Given the description of an element on the screen output the (x, y) to click on. 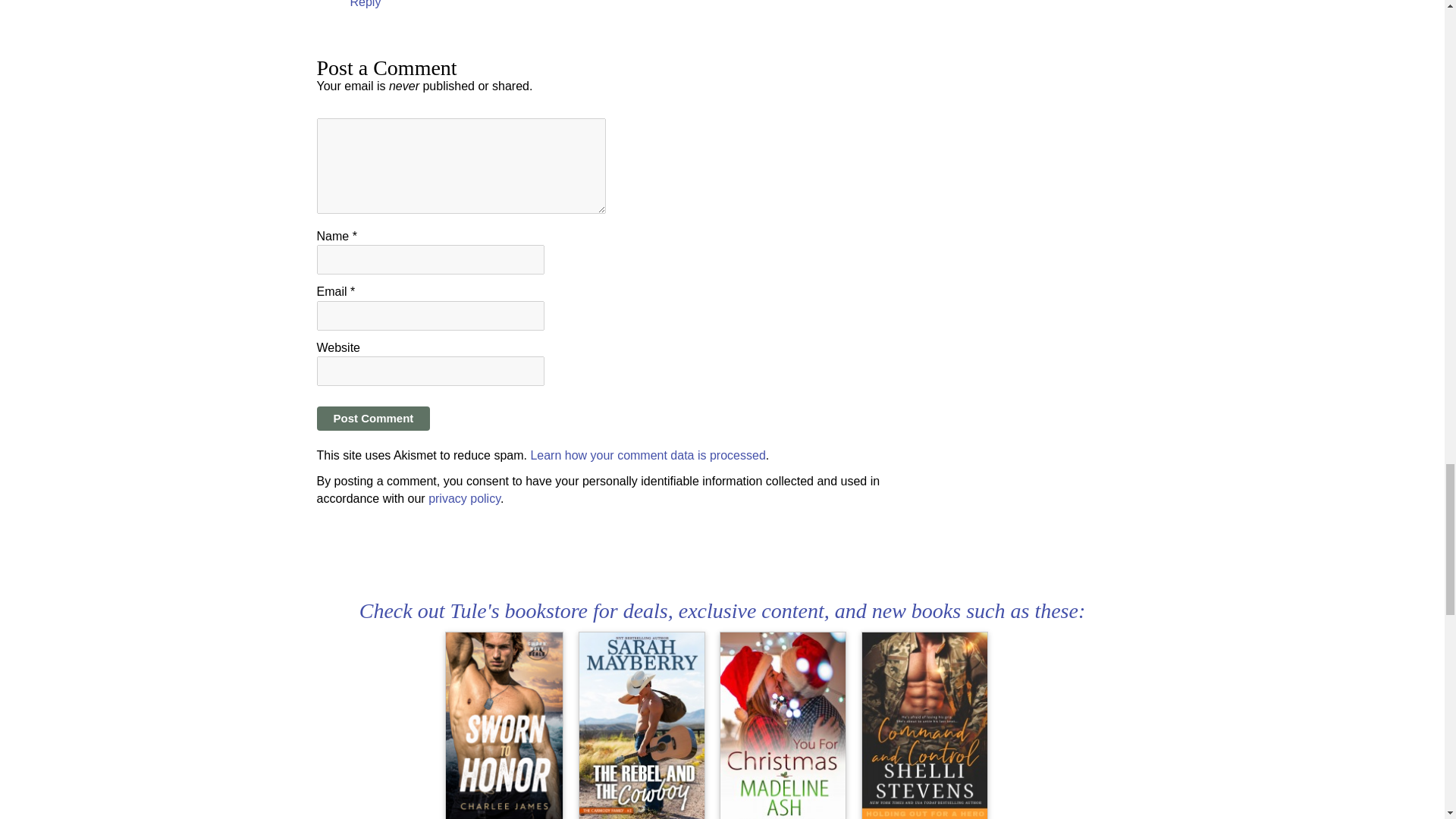
Post Comment (373, 418)
